Given the description of an element on the screen output the (x, y) to click on. 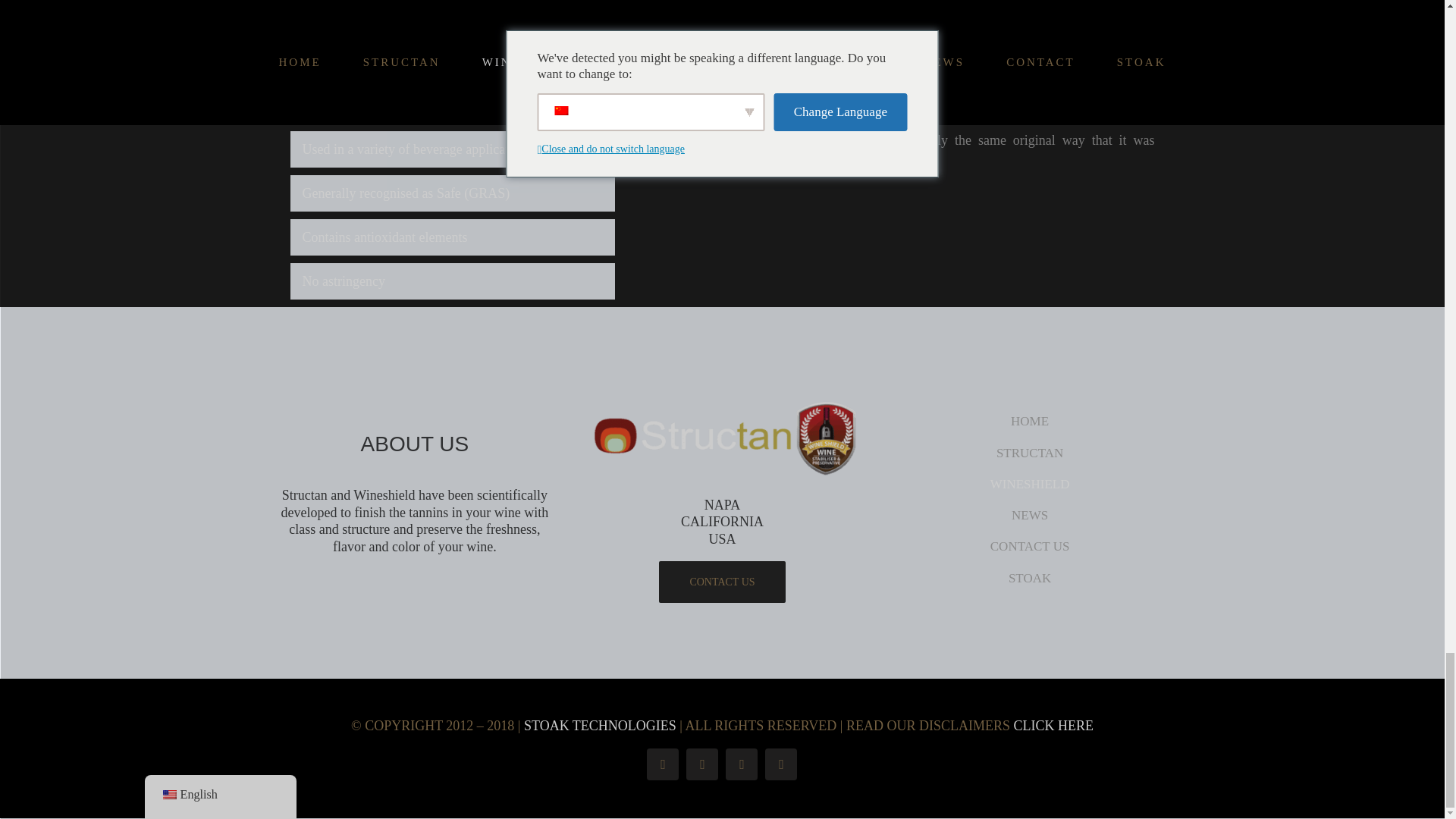
YouTube (741, 764)
CONTACT US (1029, 546)
Facebook (662, 764)
Structan-web-logoLRG (722, 439)
CLICK HERE (1053, 725)
NEWS (1029, 514)
STOAK TECHNOLOGIES (600, 725)
STOAK (1029, 578)
STRUCTAN (1029, 453)
WINESHIELD (1029, 483)
